Given the description of an element on the screen output the (x, y) to click on. 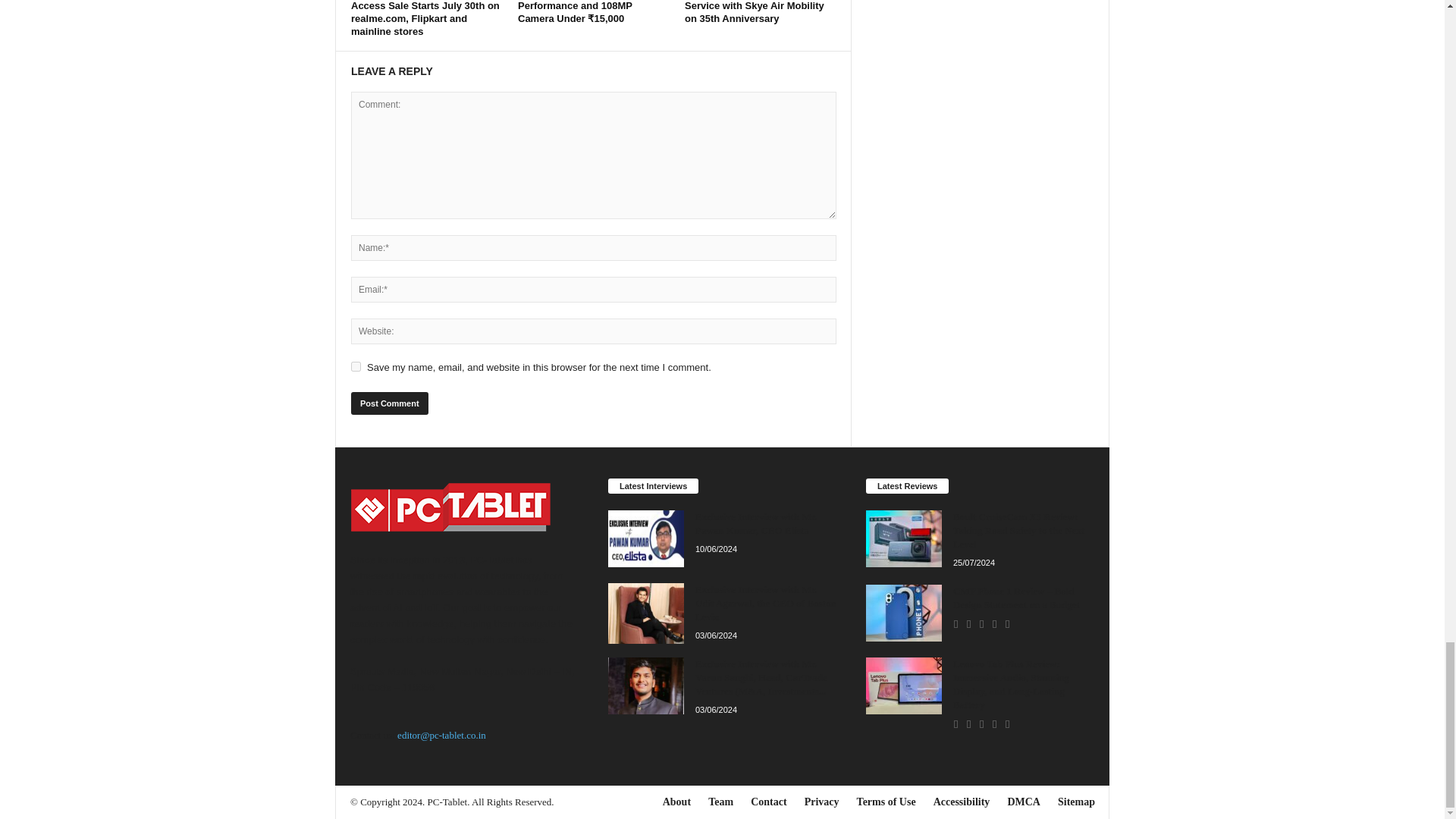
Post Comment (389, 402)
yes (355, 366)
